Given the description of an element on the screen output the (x, y) to click on. 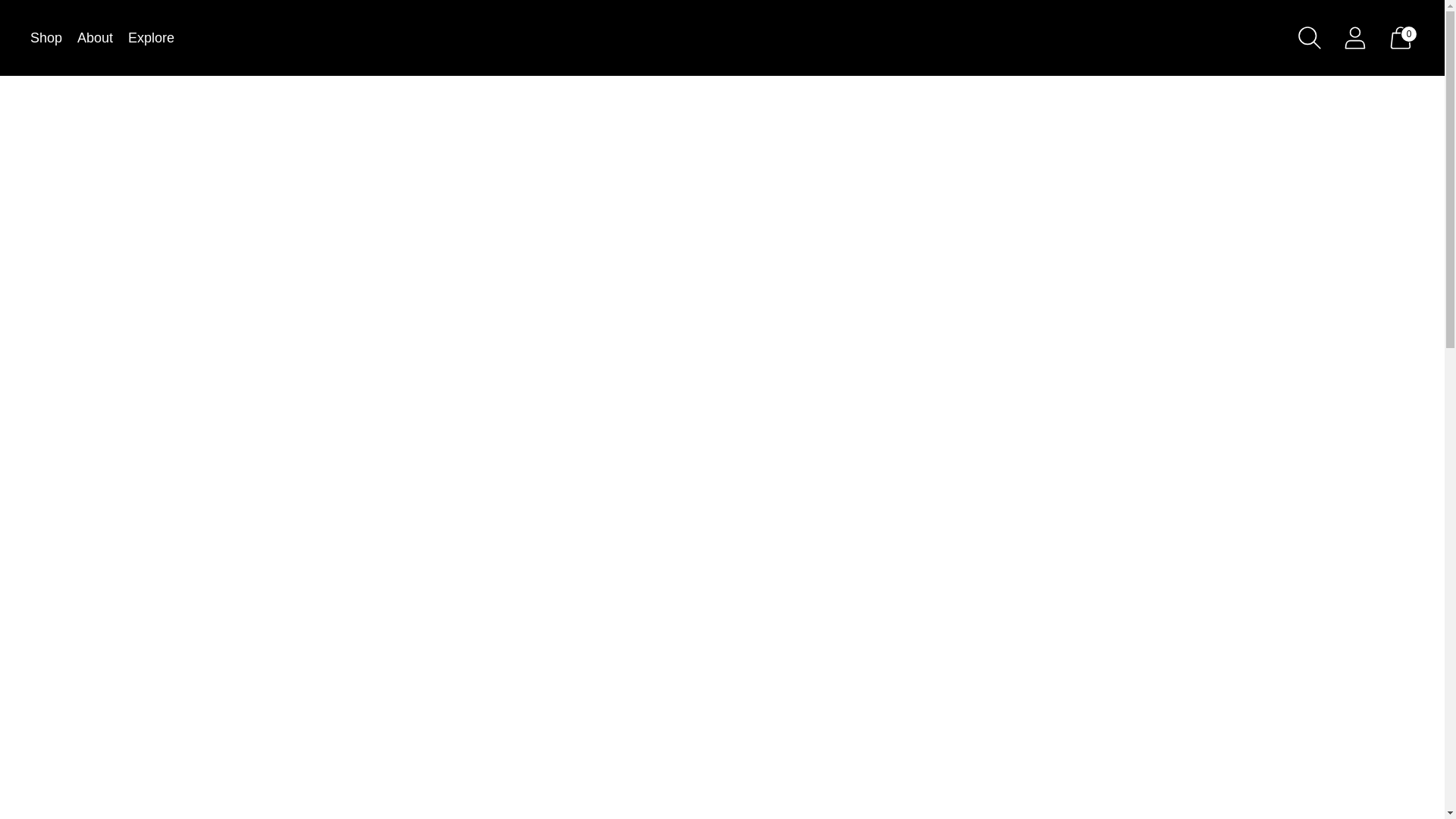
About (95, 37)
Shop (46, 37)
0 (1400, 37)
Explore (151, 37)
